Given the description of an element on the screen output the (x, y) to click on. 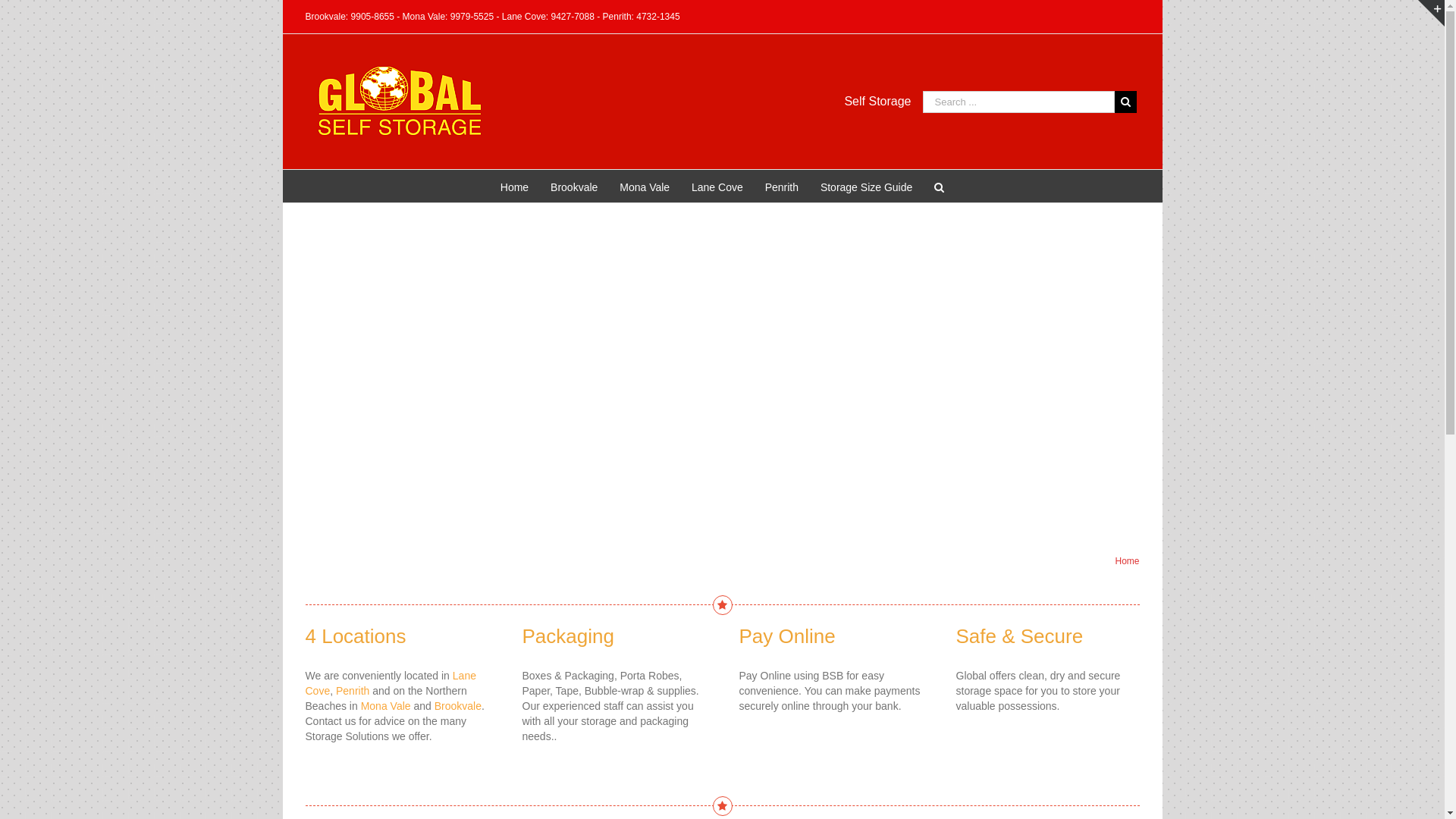
Lane Cove Element type: text (389, 682)
Mona Vale Element type: text (385, 705)
Penrith Element type: text (352, 690)
Penrith Element type: text (781, 185)
Home Element type: text (514, 185)
Brookvale Element type: text (457, 705)
Lane Cove Element type: text (717, 185)
Brookvale Element type: text (573, 185)
Storage Size Guide Element type: text (866, 185)
Mona Vale Element type: text (644, 185)
